Given the description of an element on the screen output the (x, y) to click on. 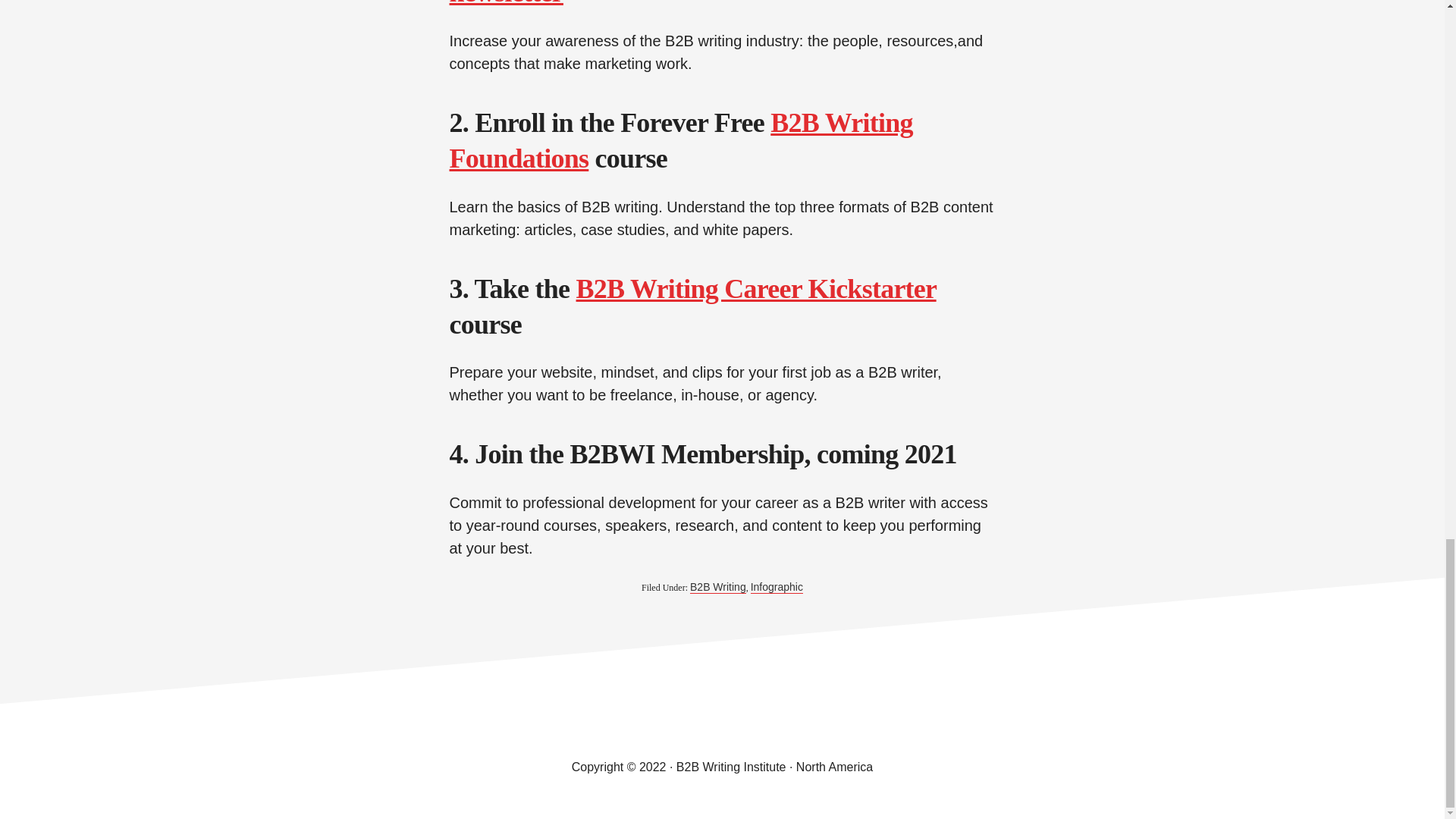
B2B Writing Institute newsletter (674, 4)
B2B Writing Career Kickstarter (756, 288)
B2B Writing (717, 586)
B2B Writing Foundations (680, 140)
Infographic (777, 586)
